Given the description of an element on the screen output the (x, y) to click on. 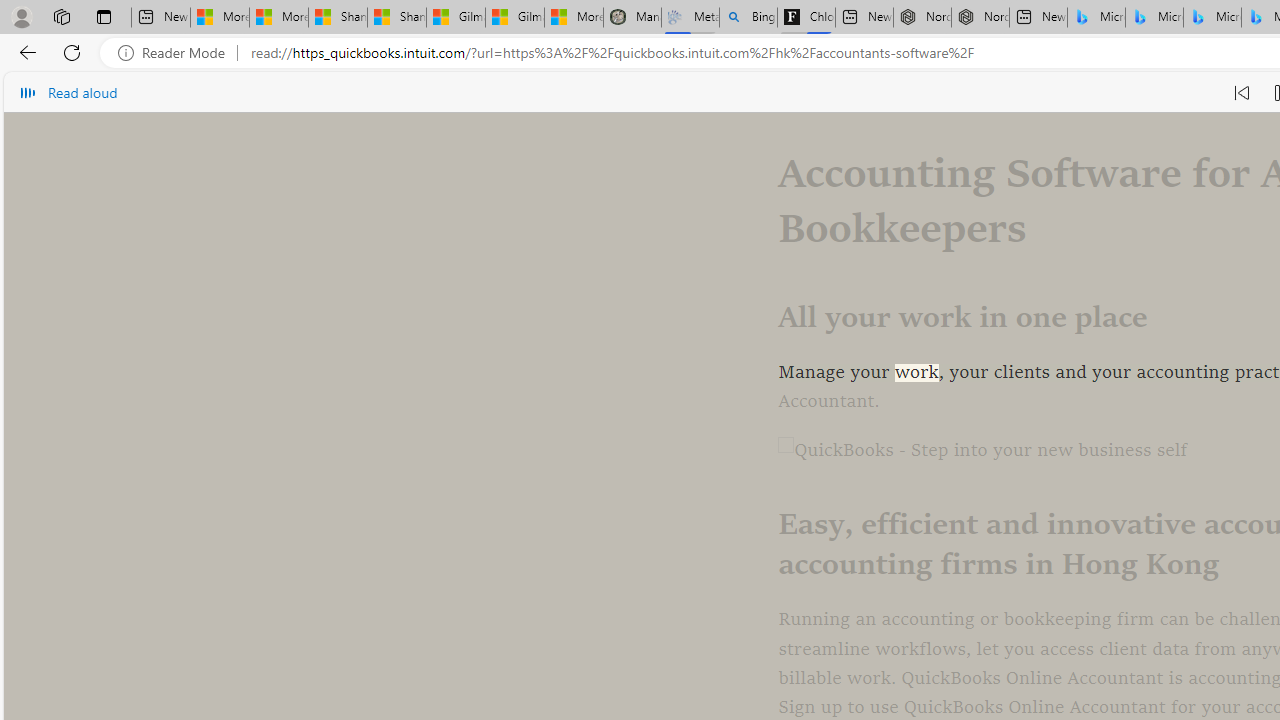
Reader Mode (177, 53)
Microsoft Bing Travel - Stays in Bangkok, Bangkok, Thailand (1154, 17)
Bing Real Estate - Home sales and rental listings (747, 17)
Chloe Sorvino (806, 17)
